Given the description of an element on the screen output the (x, y) to click on. 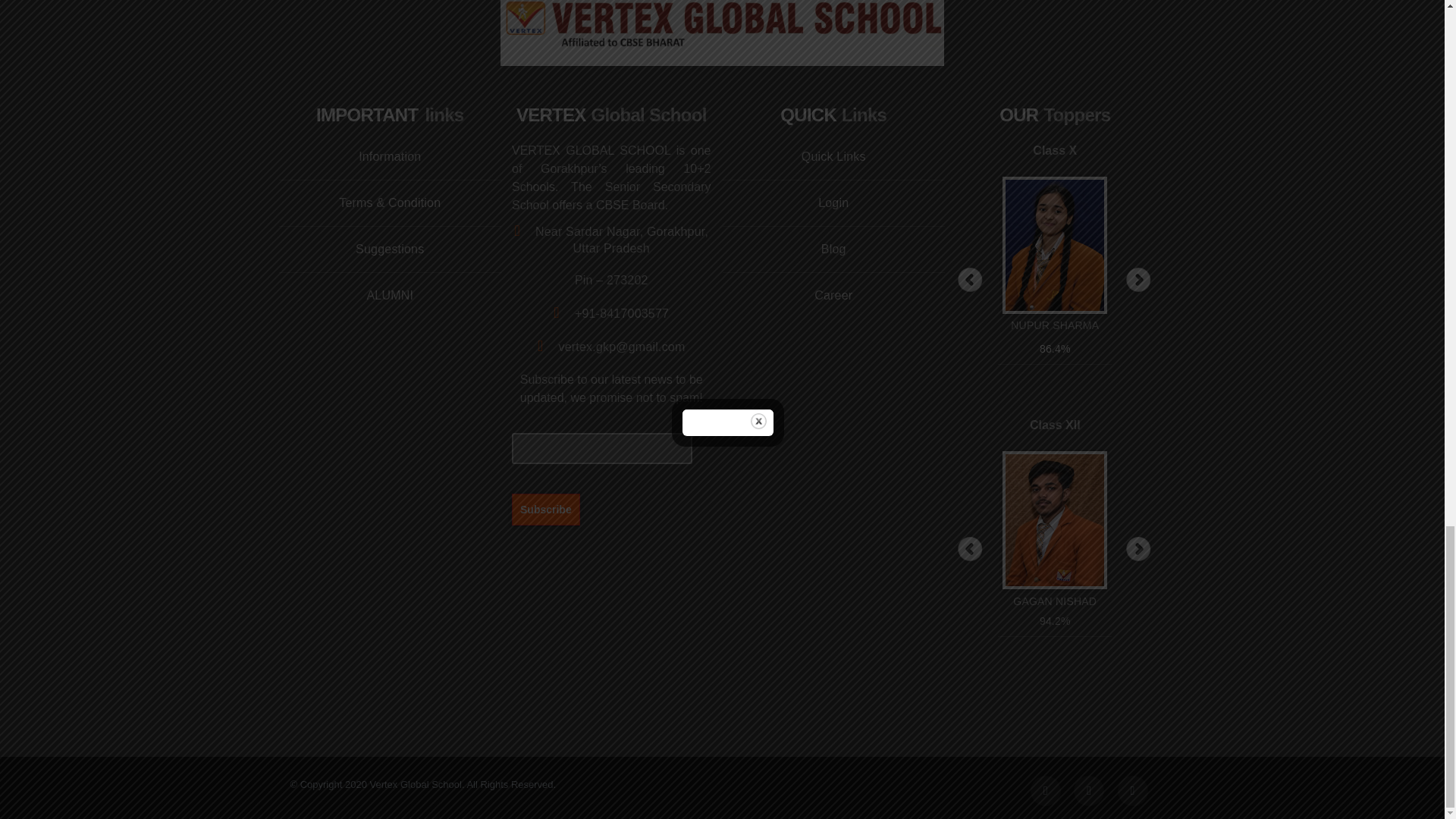
Subscribe (545, 508)
